Given the description of an element on the screen output the (x, y) to click on. 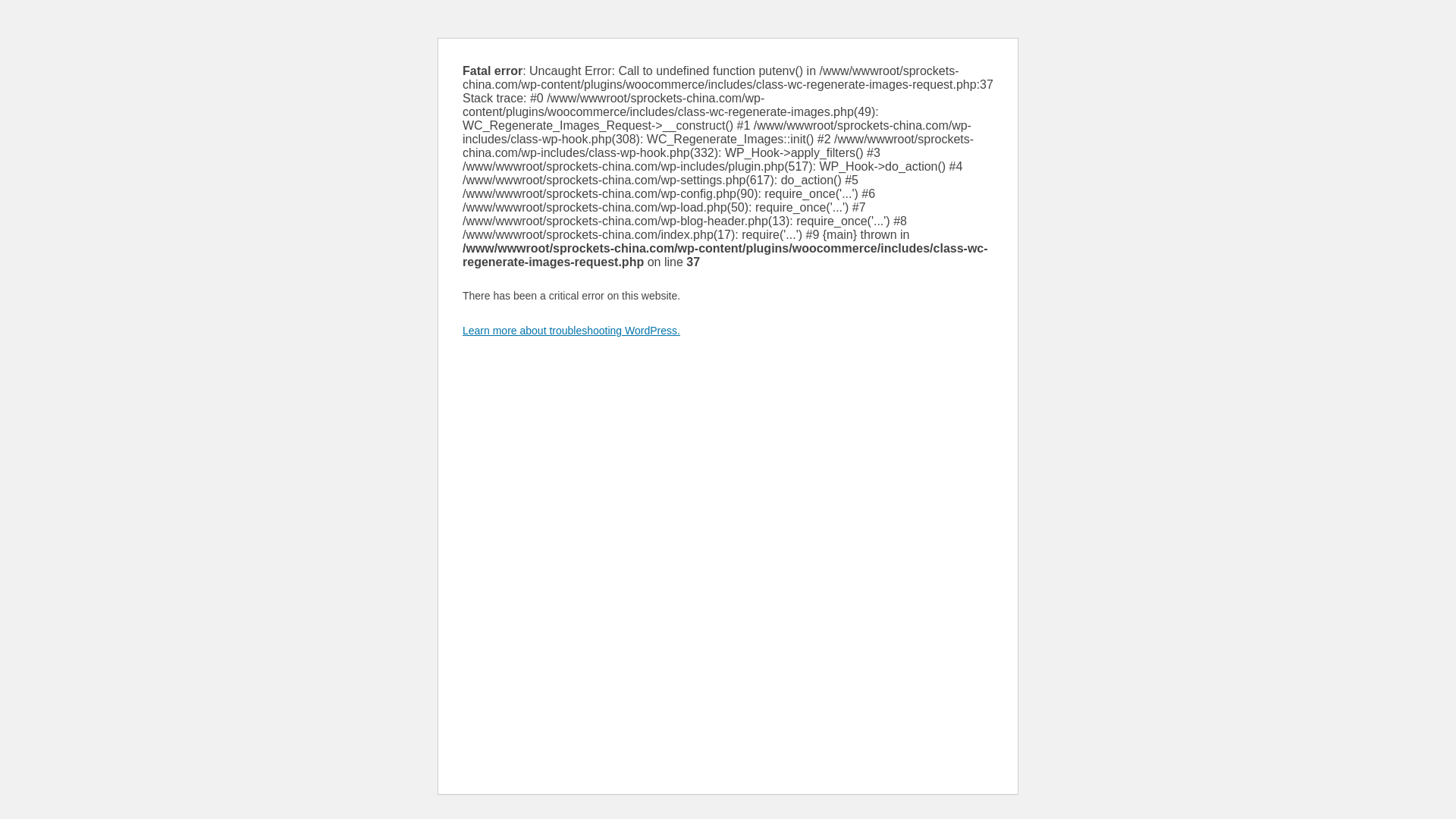
Learn more about troubleshooting WordPress. (571, 330)
